Given the description of an element on the screen output the (x, y) to click on. 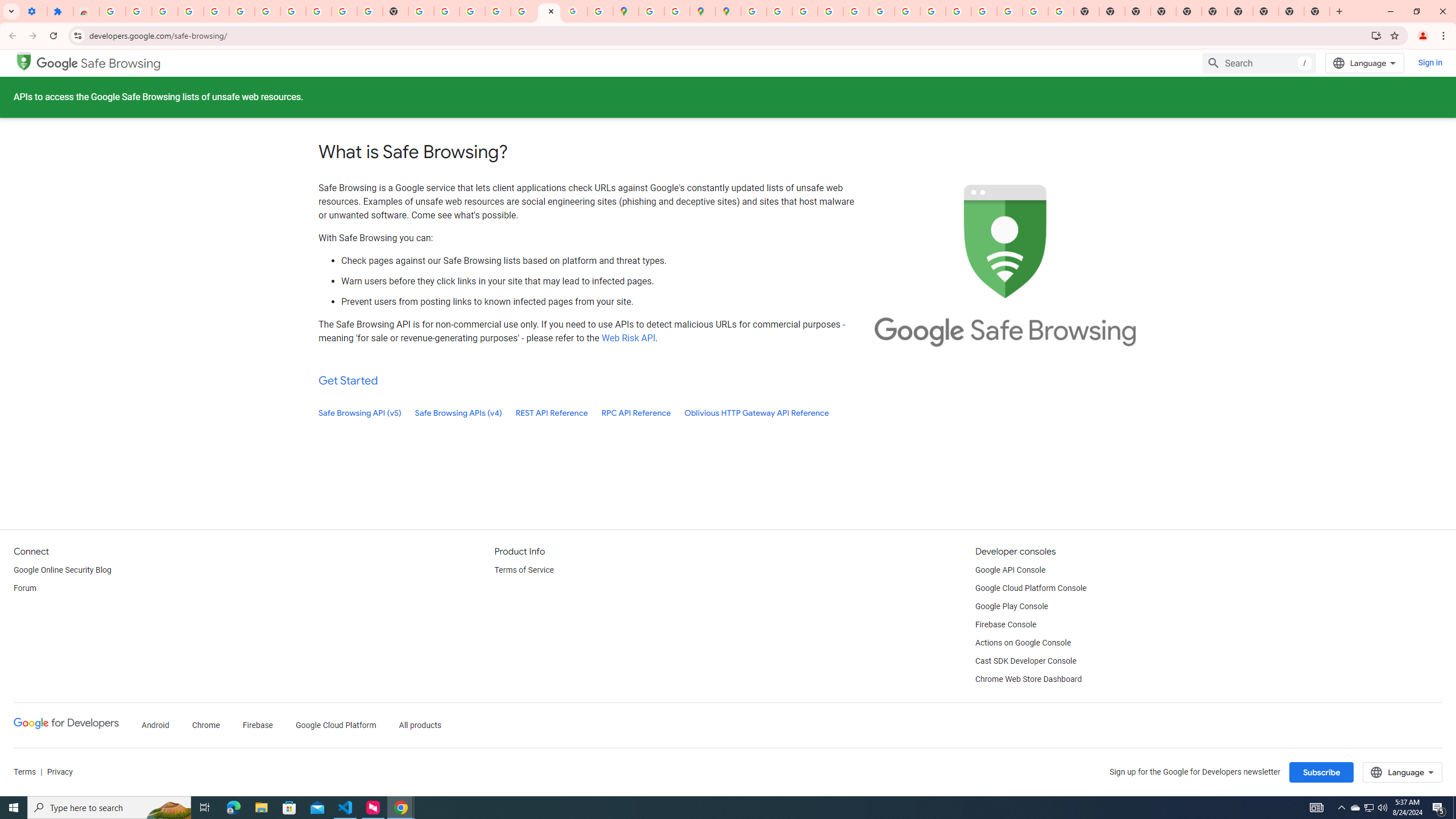
Sign in - Google Accounts (497, 11)
Safe Browsing API (v5) (360, 412)
Get Started (348, 380)
Oblivious HTTP Gateway API Reference (756, 412)
Google Play Console (1011, 606)
Google Cloud Platform Console (1030, 588)
Safety in Our Products - Google Safety Center (676, 11)
Google Developers (66, 725)
Actions on Google Console (1023, 642)
New Tab (1316, 11)
Google Maps (625, 11)
Google Cloud Platform (336, 725)
